Given the description of an element on the screen output the (x, y) to click on. 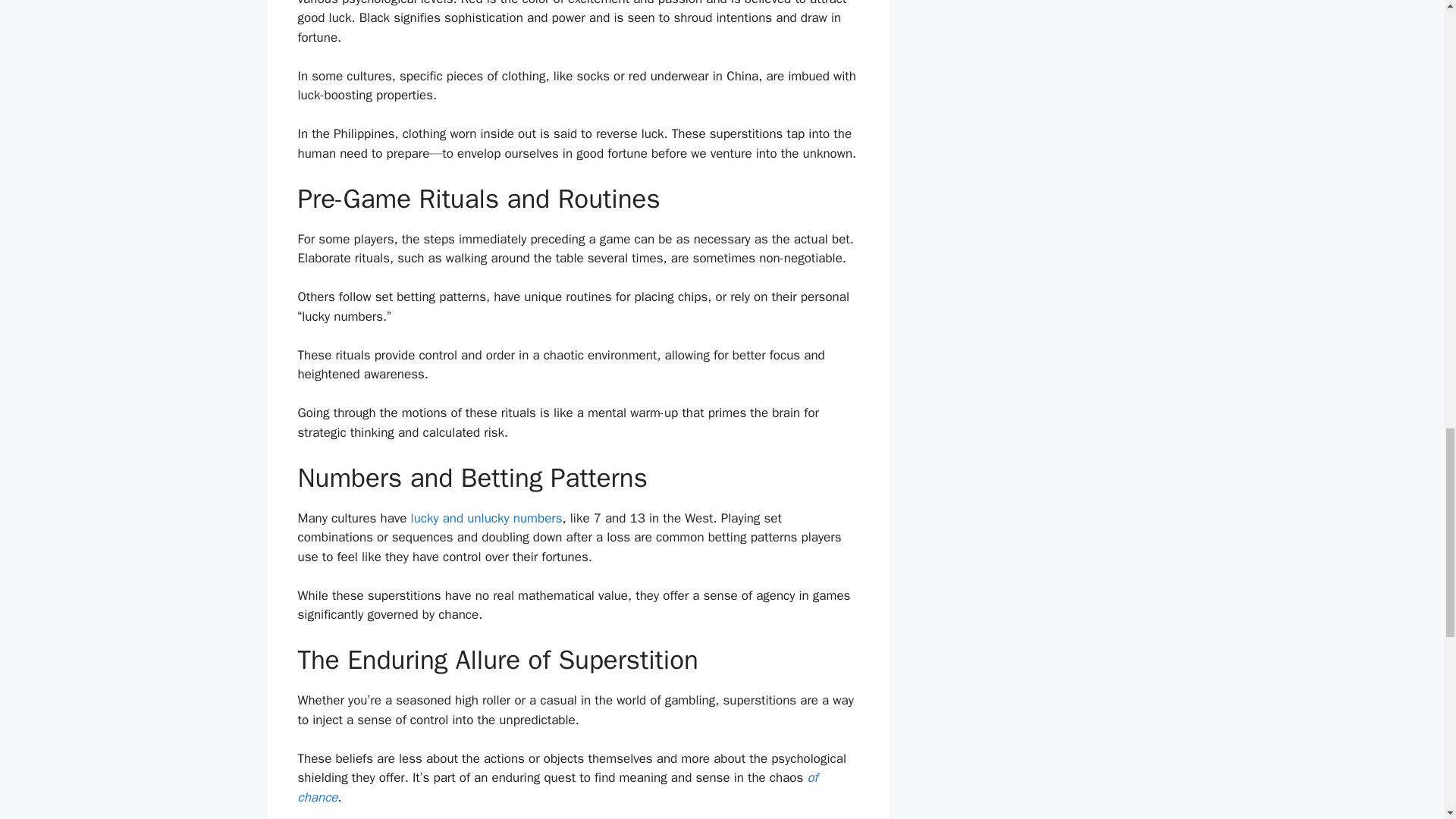
of chance (556, 787)
lucky and unlucky numbers (486, 518)
